Given the description of an element on the screen output the (x, y) to click on. 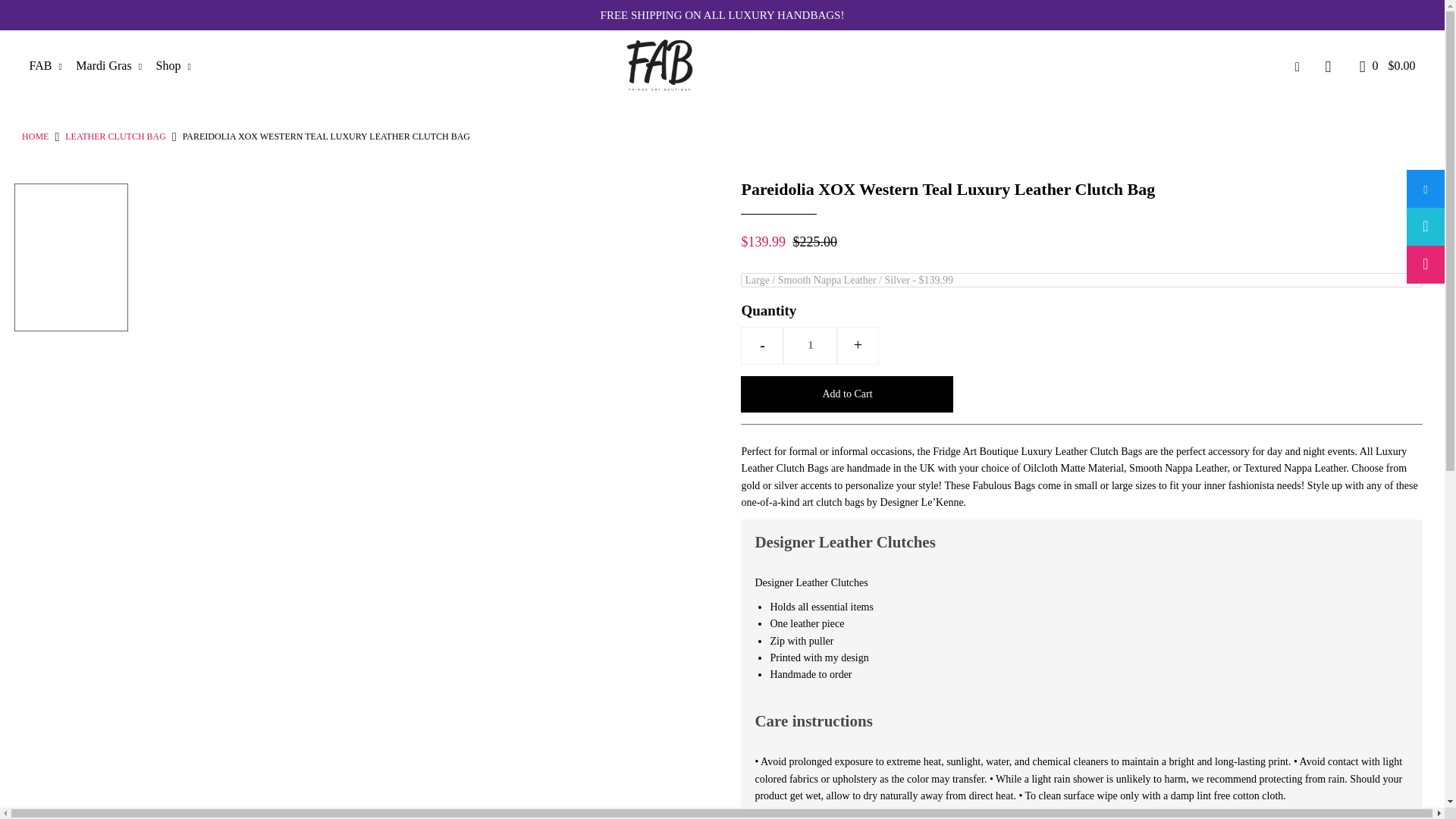
Add to Cart (847, 393)
Share on Facebook (1425, 188)
Avoid high temperatures (898, 815)
Shop (178, 65)
Avoid rain and water (1004, 815)
Mardi Gras (113, 65)
Leather Clutch Bag (115, 136)
Avoid direct sunlight (951, 815)
Do Not Wash (844, 815)
Share on Twitter (1425, 226)
FAB (50, 65)
Home (34, 136)
1 (810, 345)
Wipe with a lint free cloth (792, 815)
Share on Pinterest (1425, 264)
